Given the description of an element on the screen output the (x, y) to click on. 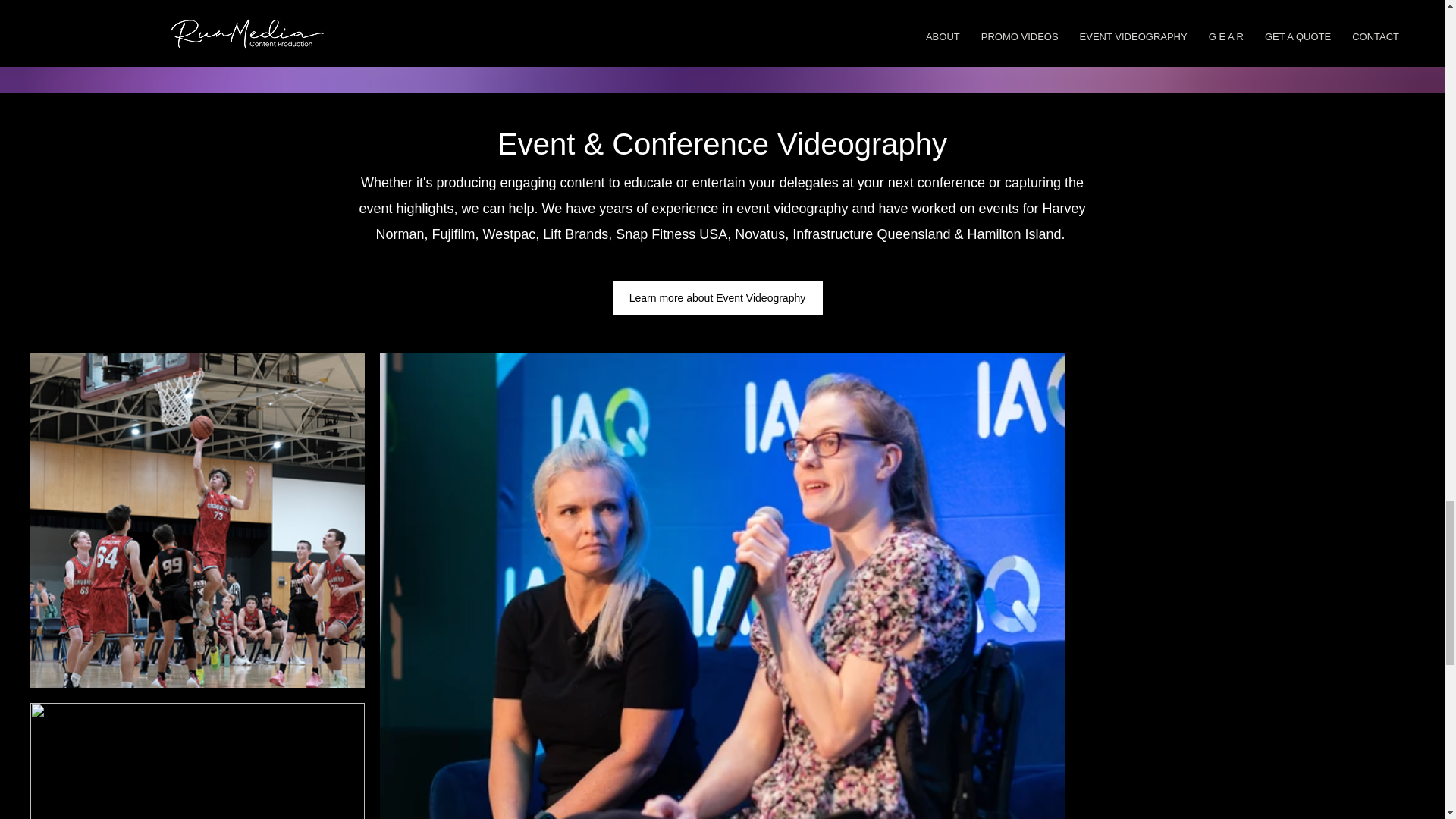
Learn more about Event Videography (717, 298)
